Given the description of an element on the screen output the (x, y) to click on. 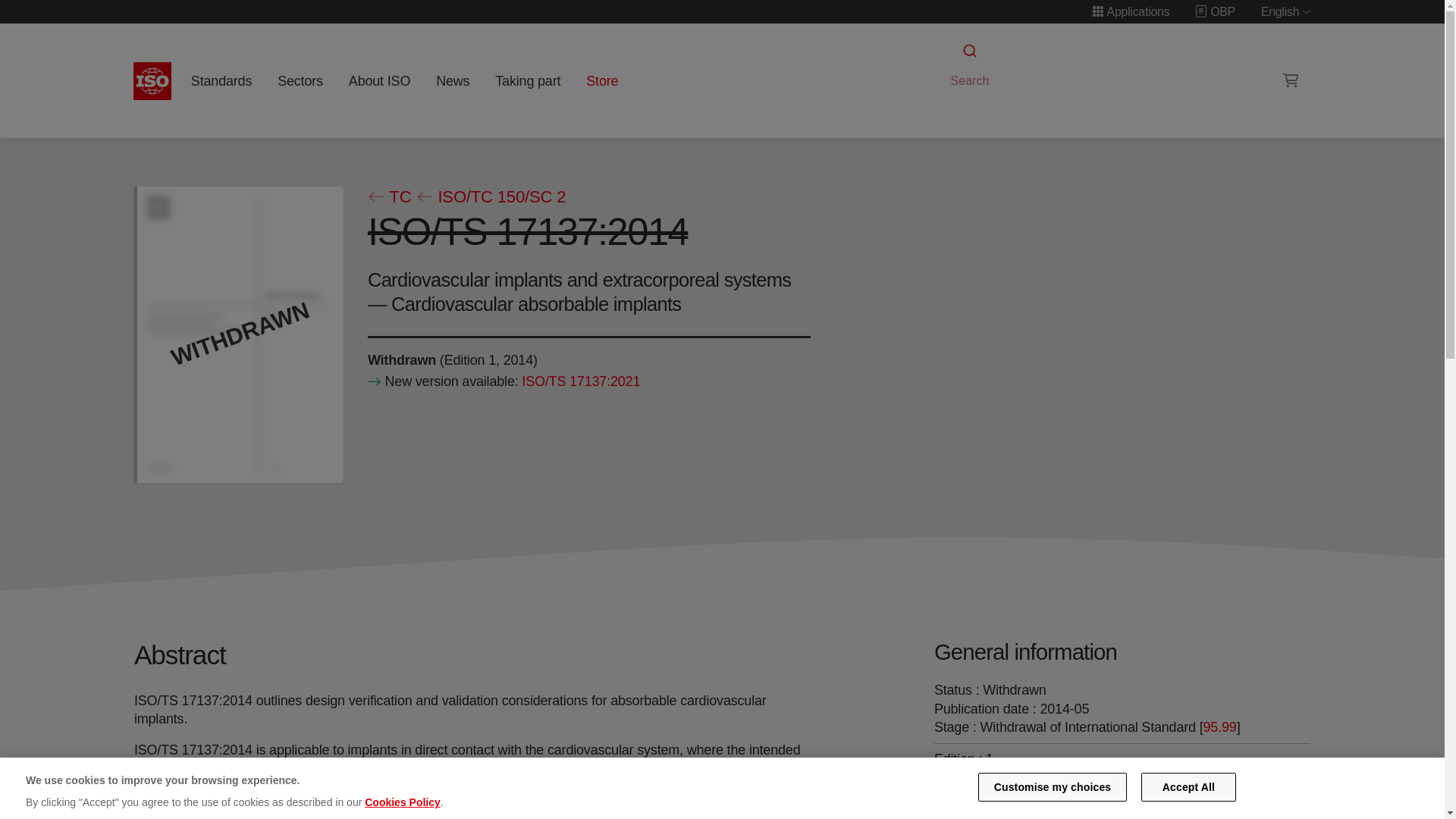
Store (601, 80)
Shopping cart (1290, 80)
International Organization for Standardization (152, 80)
English (1285, 11)
Submit (968, 51)
Online Browsing Platform (1214, 11)
About ISO (379, 80)
Standards (220, 80)
ISO's applications portal (1130, 11)
 OBP (1214, 11)
95.99 (1220, 726)
